Given the description of an element on the screen output the (x, y) to click on. 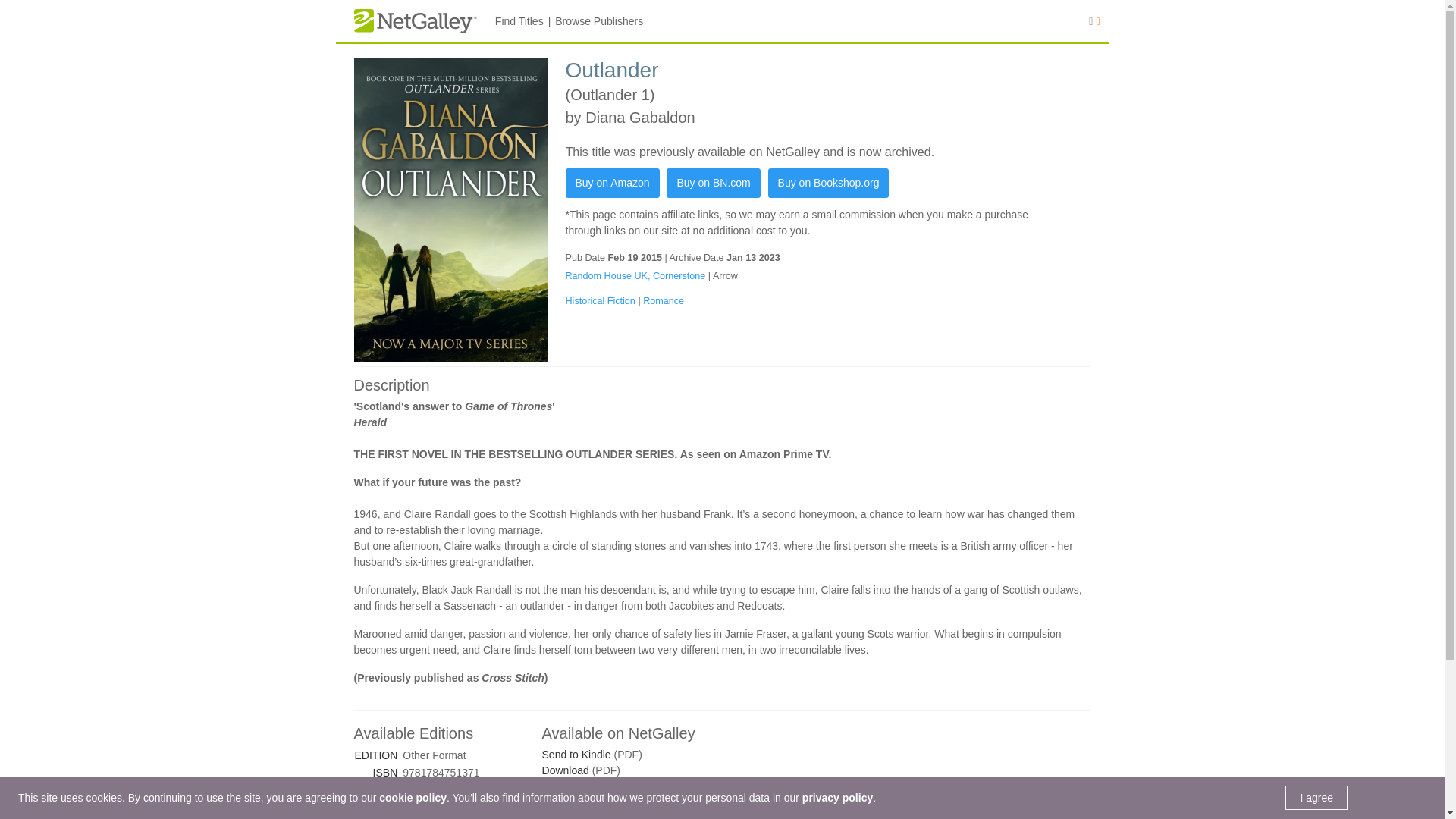
Historical Fiction (602, 300)
Browse Publishers (598, 21)
Find Titles (519, 21)
Buy on Bookshop.org (828, 183)
Buy on BN.com (713, 183)
Buy on Amazon (612, 183)
Romance (663, 300)
